Given the description of an element on the screen output the (x, y) to click on. 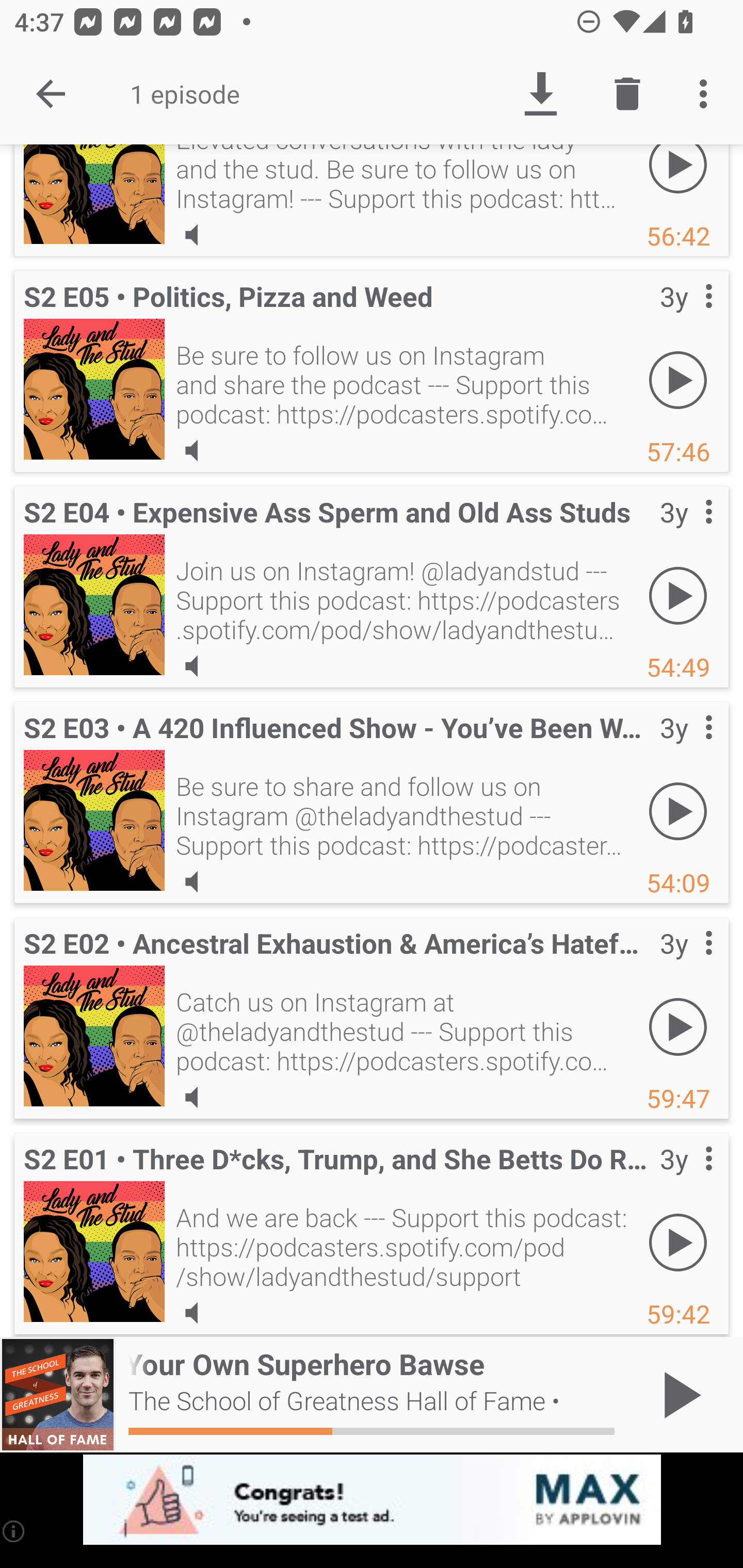
Done (50, 93)
Download (540, 93)
Delete episode (626, 93)
More options (706, 93)
Play (677, 179)
Contextual menu (685, 316)
Politics, Pizza and Weed (93, 388)
Play (677, 380)
Contextual menu (685, 532)
Expensive Ass Sperm and Old Ass Studs (93, 604)
Play (677, 595)
Contextual menu (685, 747)
A 420 Influenced Show - You’ve Been Warned (93, 819)
Play (677, 811)
Contextual menu (685, 963)
Play (677, 1026)
Contextual menu (685, 1178)
Three D*cks, Trump, and She Betts Do Right! (93, 1250)
Play (677, 1242)
Play / Pause (677, 1394)
app-monetization (371, 1500)
(i) (14, 1531)
